Given the description of an element on the screen output the (x, y) to click on. 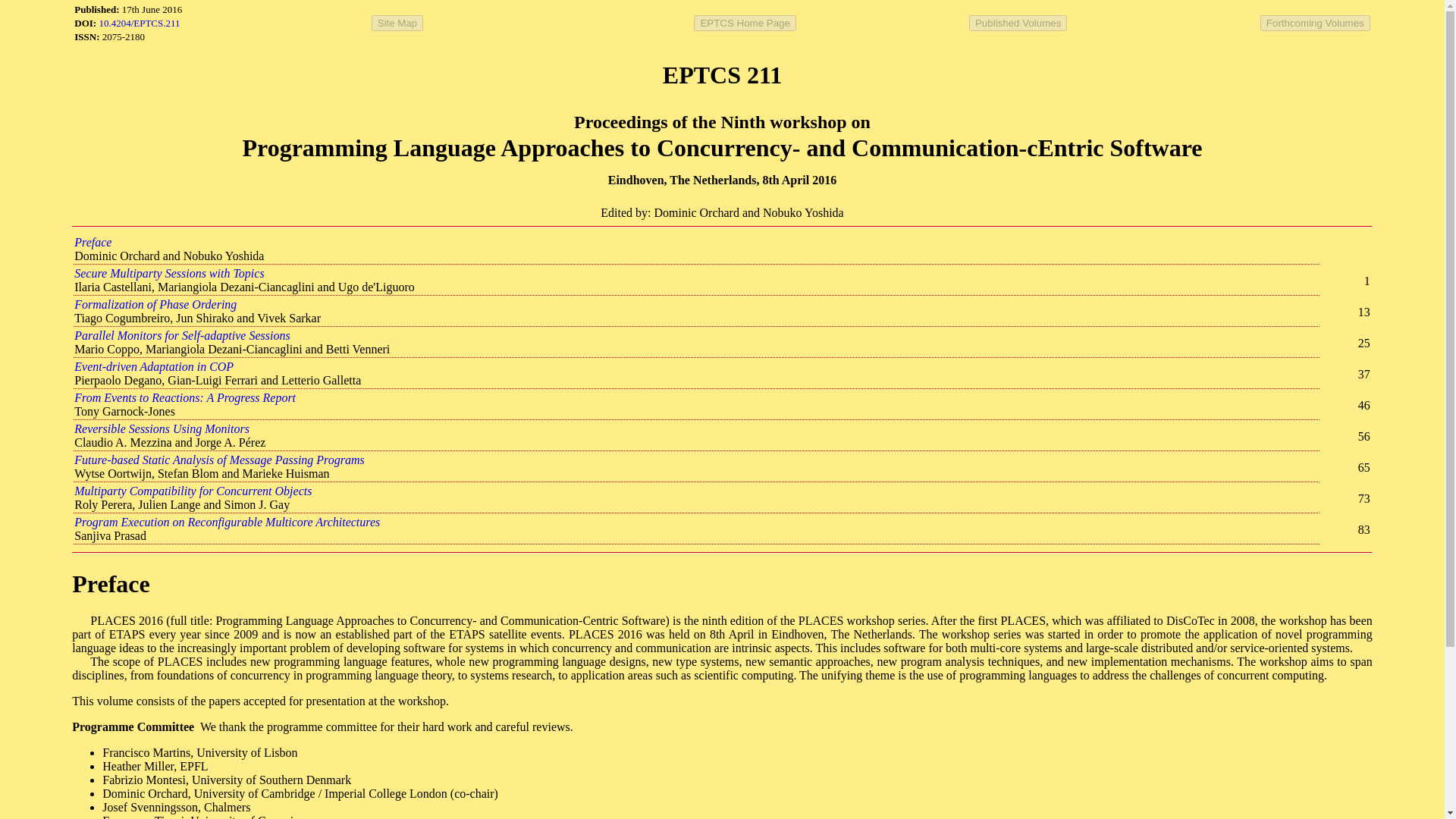
Event-driven Adaptation in COP (153, 366)
EPTCS Home Page (745, 23)
Published Volumes (1018, 23)
From Events to Reactions: A Progress Report (184, 397)
Preface (93, 241)
Parallel Monitors for Self-adaptive Sessions (181, 335)
Program Execution on Reconfigurable Multicore Architectures (227, 521)
Formalization of Phase Ordering (154, 304)
Preface (110, 583)
Secure Multiparty Sessions with Topics (168, 273)
